Given the description of an element on the screen output the (x, y) to click on. 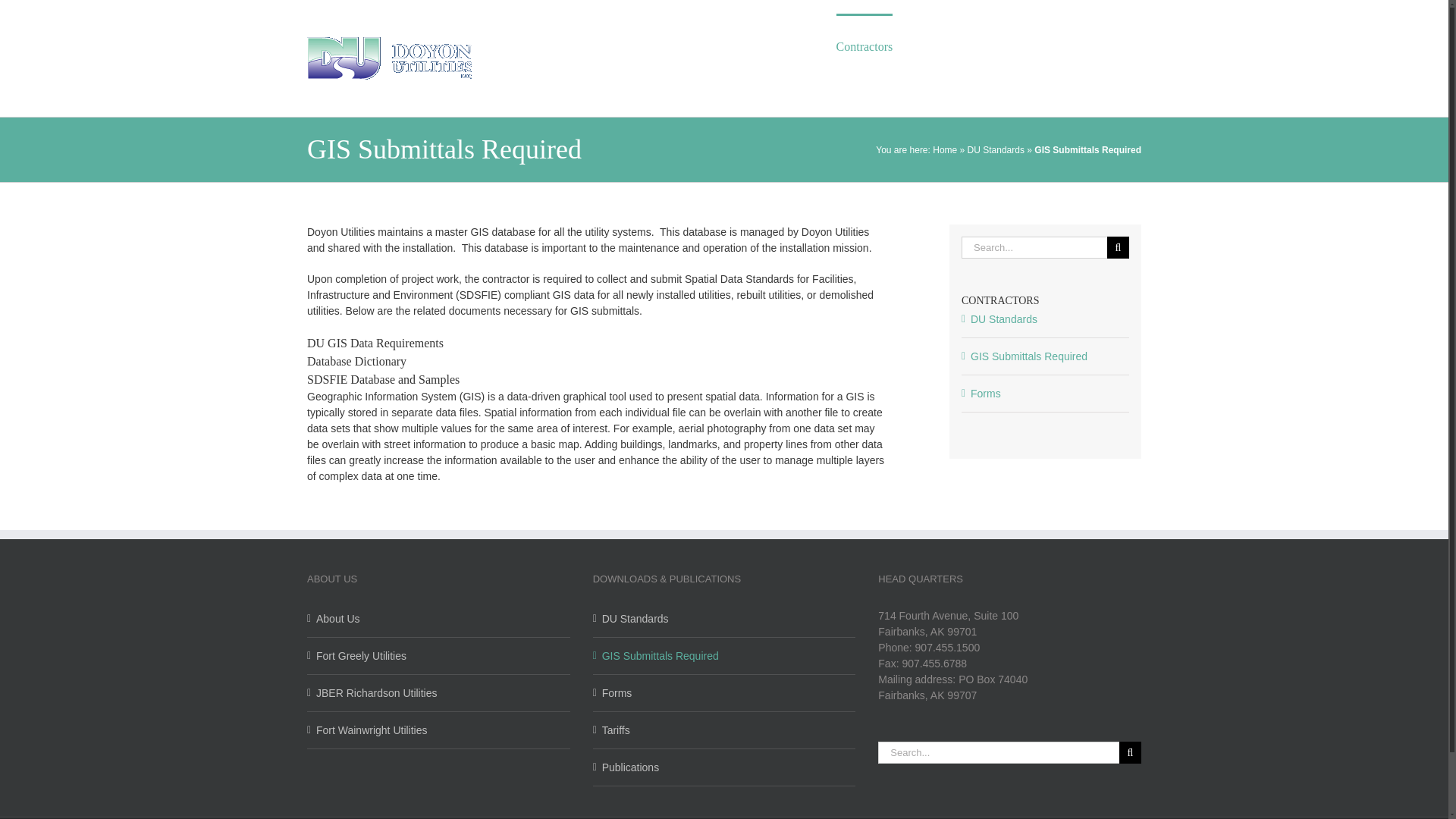
Career Opportunities (751, 44)
Water Quality Reports (725, 767)
Contractors (864, 44)
Home (944, 149)
DU Standards (996, 149)
Publications (1022, 44)
